Given the description of an element on the screen output the (x, y) to click on. 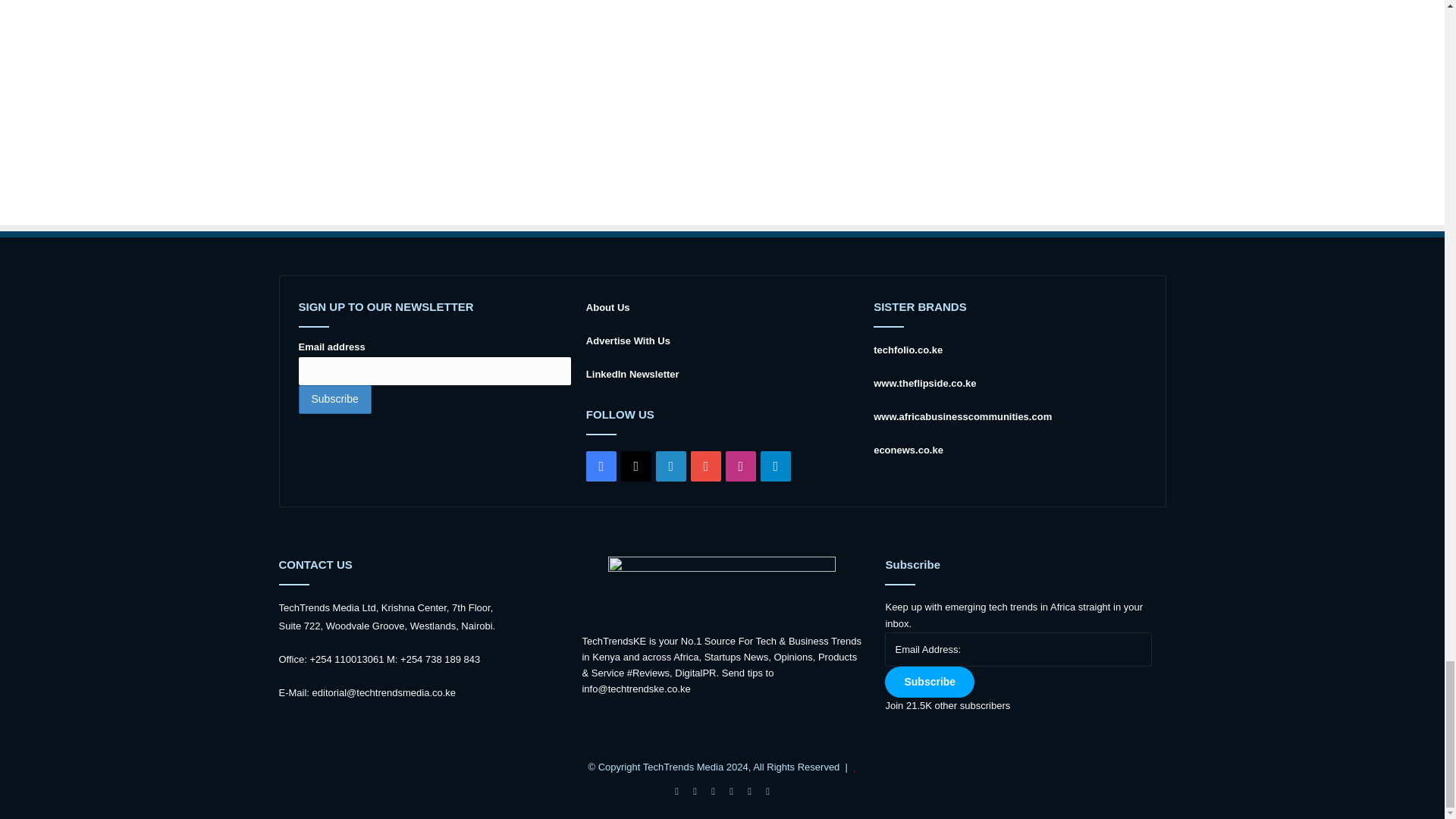
Subscribe (334, 399)
